Given the description of an element on the screen output the (x, y) to click on. 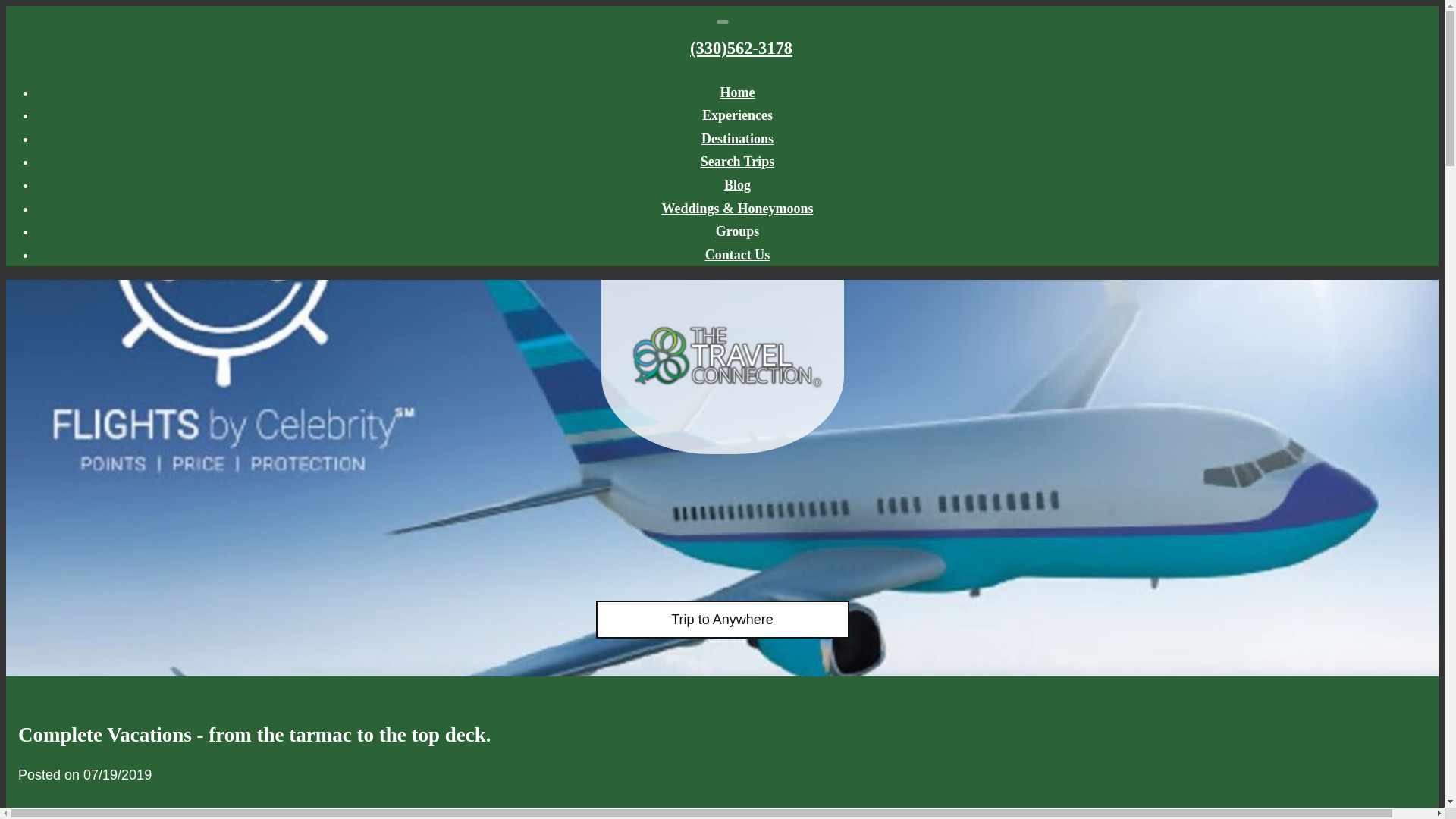
Trip to Anywhere (721, 619)
Experiences (737, 115)
Groups (738, 231)
Search Trips (737, 161)
Destinations (737, 138)
Home (737, 92)
Toggle navigation (722, 21)
Contact Us (737, 254)
